Given the description of an element on the screen output the (x, y) to click on. 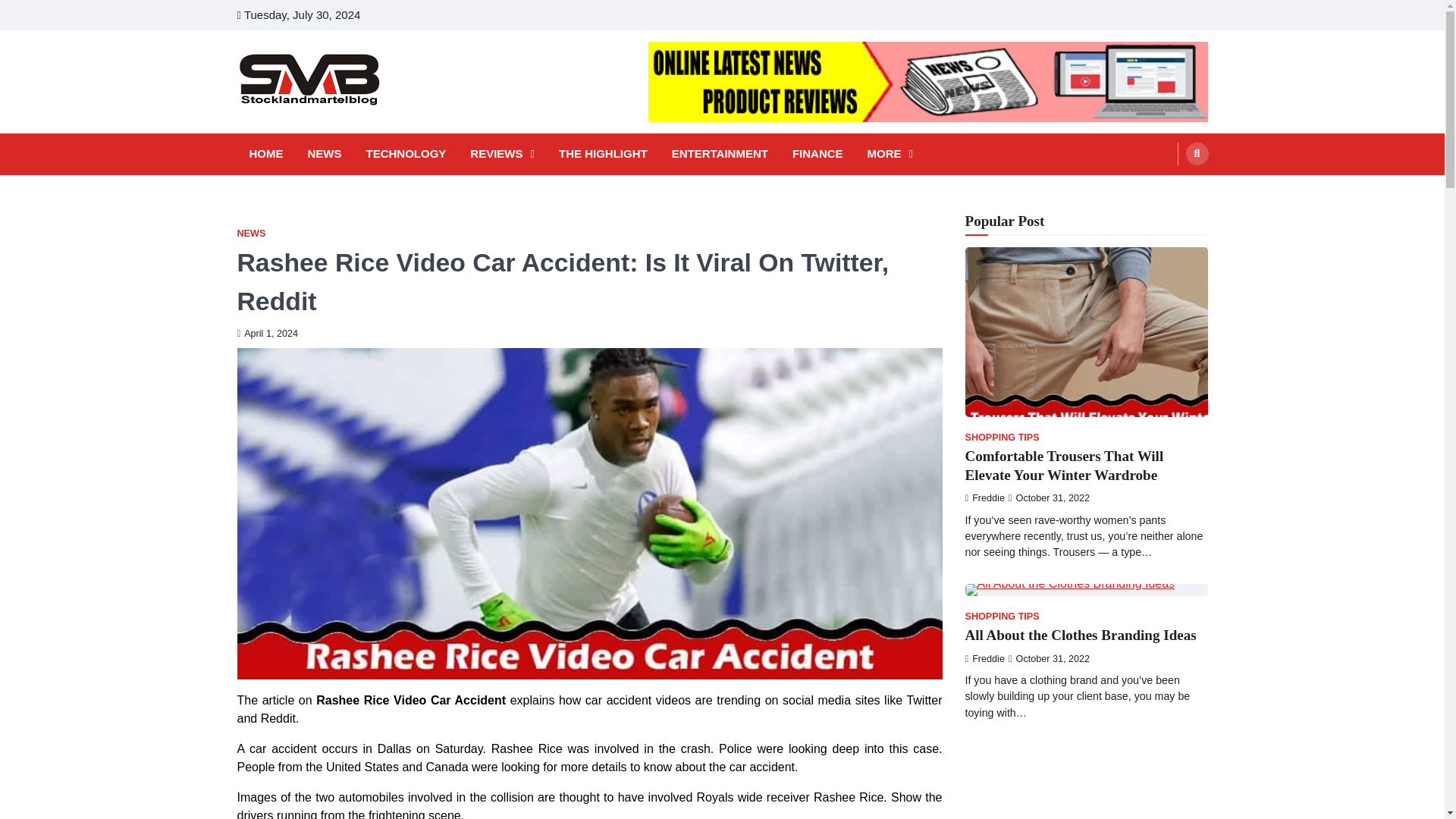
April 1, 2024 (266, 333)
Search (1197, 153)
Search (1168, 189)
ENTERTAINMENT (719, 153)
MORE (889, 153)
THE HIGHLIGHT (603, 153)
TECHNOLOGY (405, 153)
REVIEWS (502, 153)
FINANCE (817, 153)
NEWS (249, 233)
NEWS (324, 153)
HOME (265, 153)
